Given the description of an element on the screen output the (x, y) to click on. 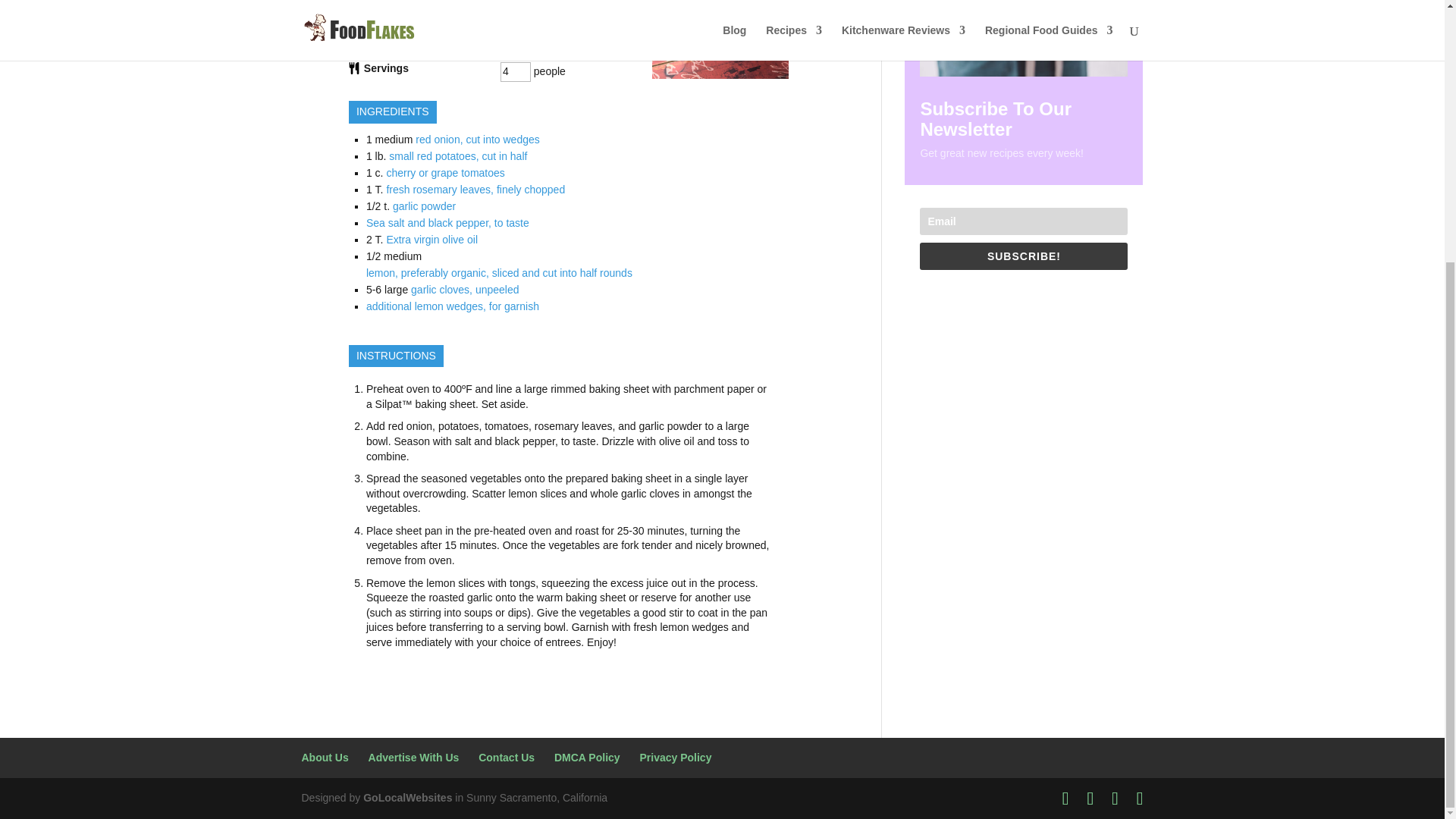
4 (515, 71)
